Given the description of an element on the screen output the (x, y) to click on. 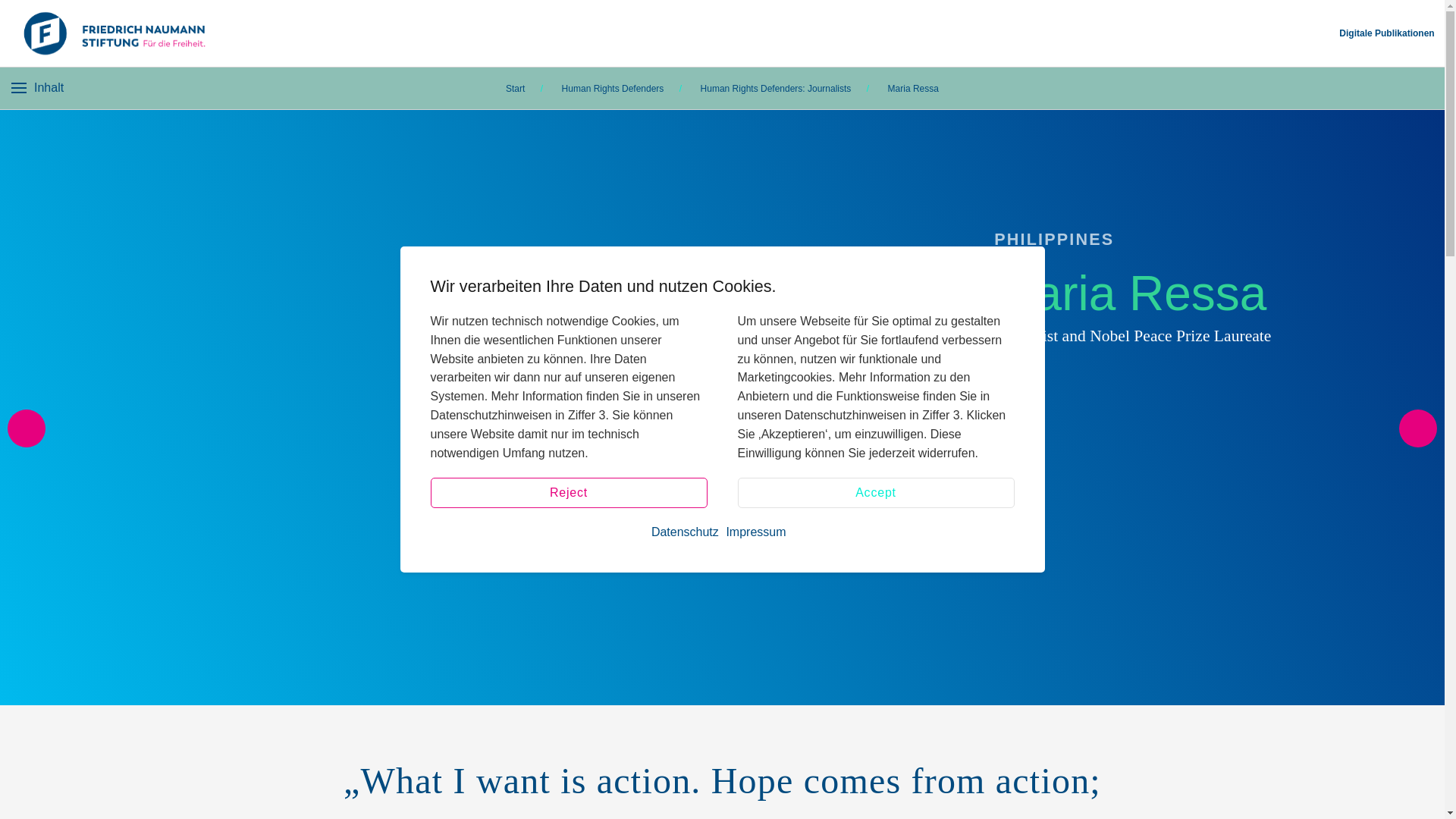
Inhalt (37, 86)
Maria Ressa (913, 88)
Start (514, 87)
Human Rights Defenders: Journalists (775, 88)
Human Rights Defenders (612, 87)
PHILIPPINES (1213, 233)
Digitale Publikationen (1386, 32)
